Given the description of an element on the screen output the (x, y) to click on. 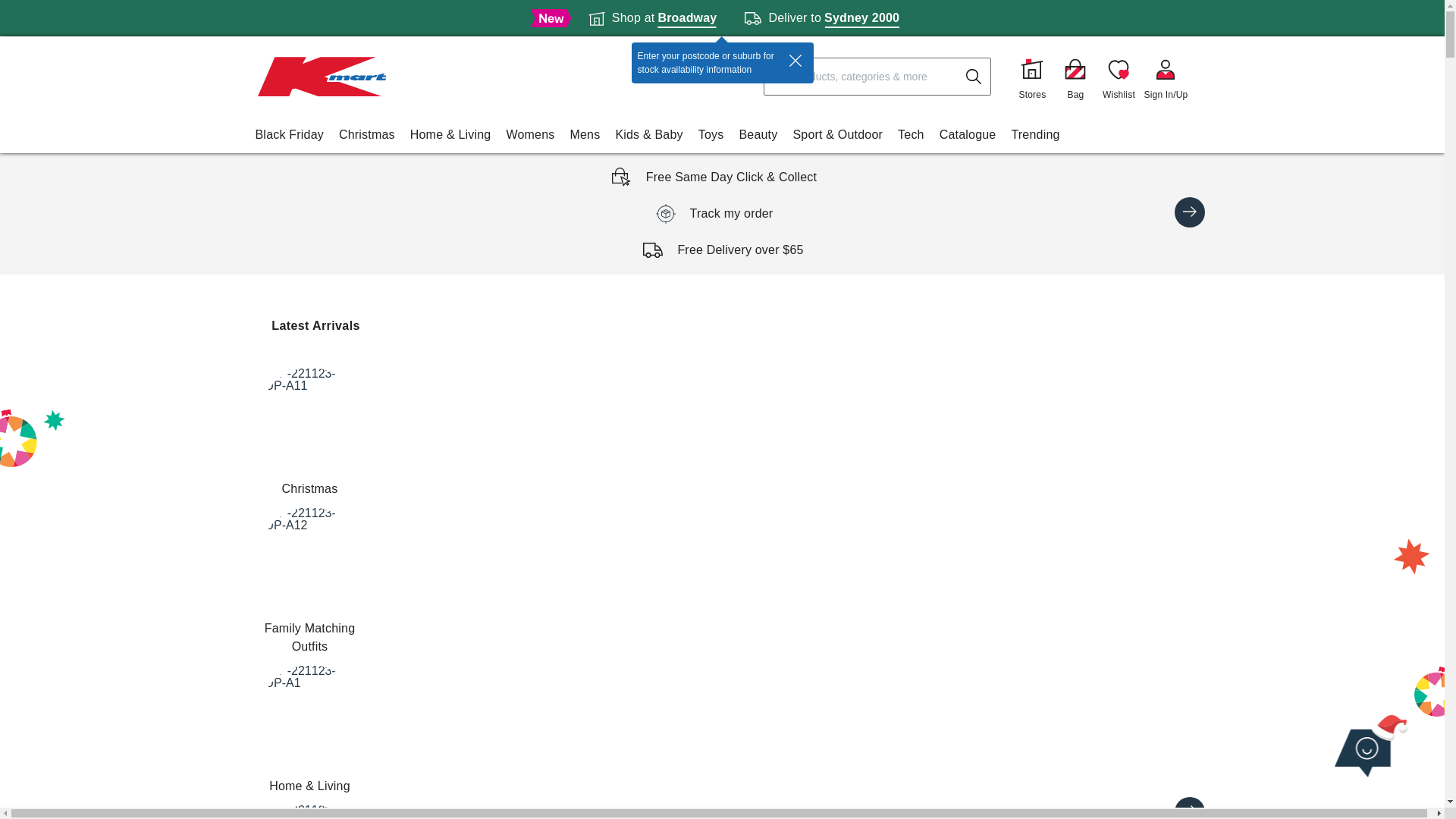
Catalogue Element type: text (967, 134)
Family Matching Outfits Element type: text (309, 581)
Home & Living Element type: text (309, 730)
Deliver to
Sydney 2000 Element type: text (821, 18)
0
Bag Element type: text (1075, 76)
Stores Element type: text (1031, 76)
Tech Element type: text (910, 134)
Mens Element type: text (584, 134)
Kids & Baby Element type: text (648, 134)
Womens Element type: text (529, 134)
Sign In/Up Element type: text (1165, 76)
Christmas Element type: text (366, 134)
Shop at
Broadway Element type: text (652, 18)
Home & Living Element type: text (450, 134)
Trending Element type: text (1034, 134)
Black Friday Element type: text (288, 134)
Sport & Outdoor Element type: text (837, 134)
Christmas Element type: text (309, 432)
Latest Arrivals Element type: text (315, 325)
Beauty Element type: text (757, 134)
Wishlist Element type: text (1118, 76)
Toys Element type: text (711, 134)
